Given the description of an element on the screen output the (x, y) to click on. 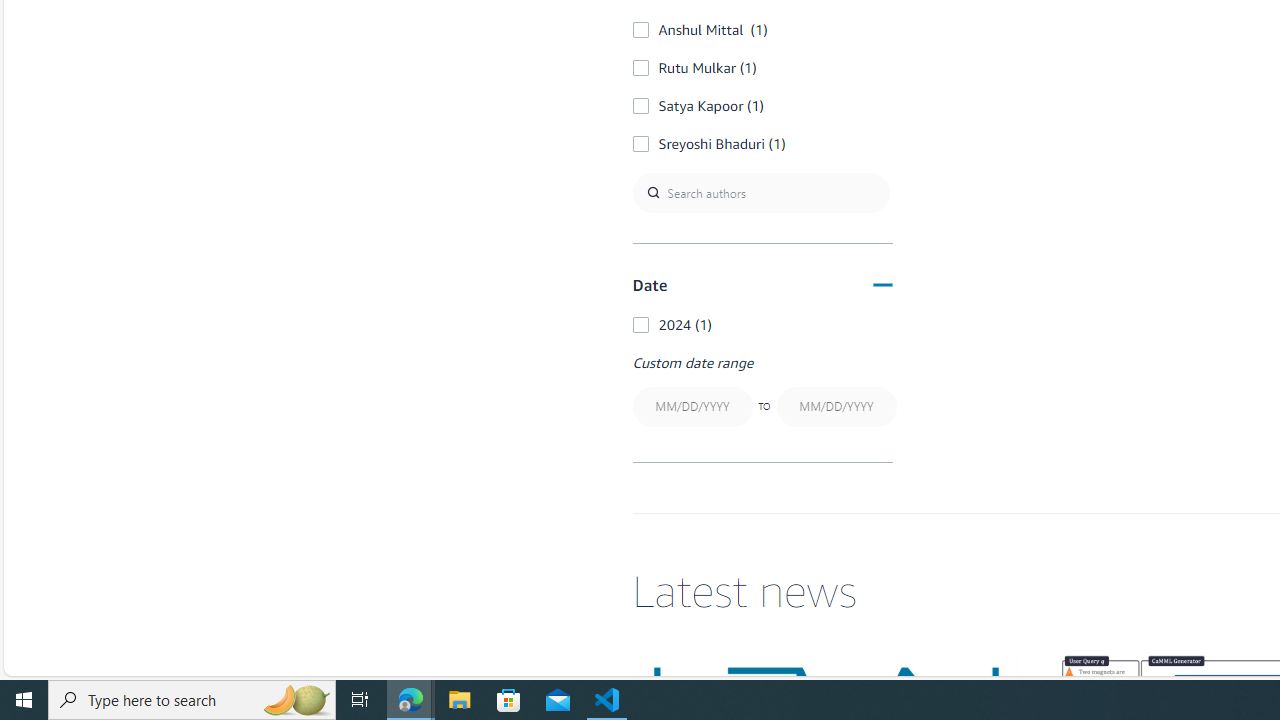
mm/dd/yyyy (836, 405)
Custom date rangeTO (762, 392)
Search authors (760, 192)
